Given the description of an element on the screen output the (x, y) to click on. 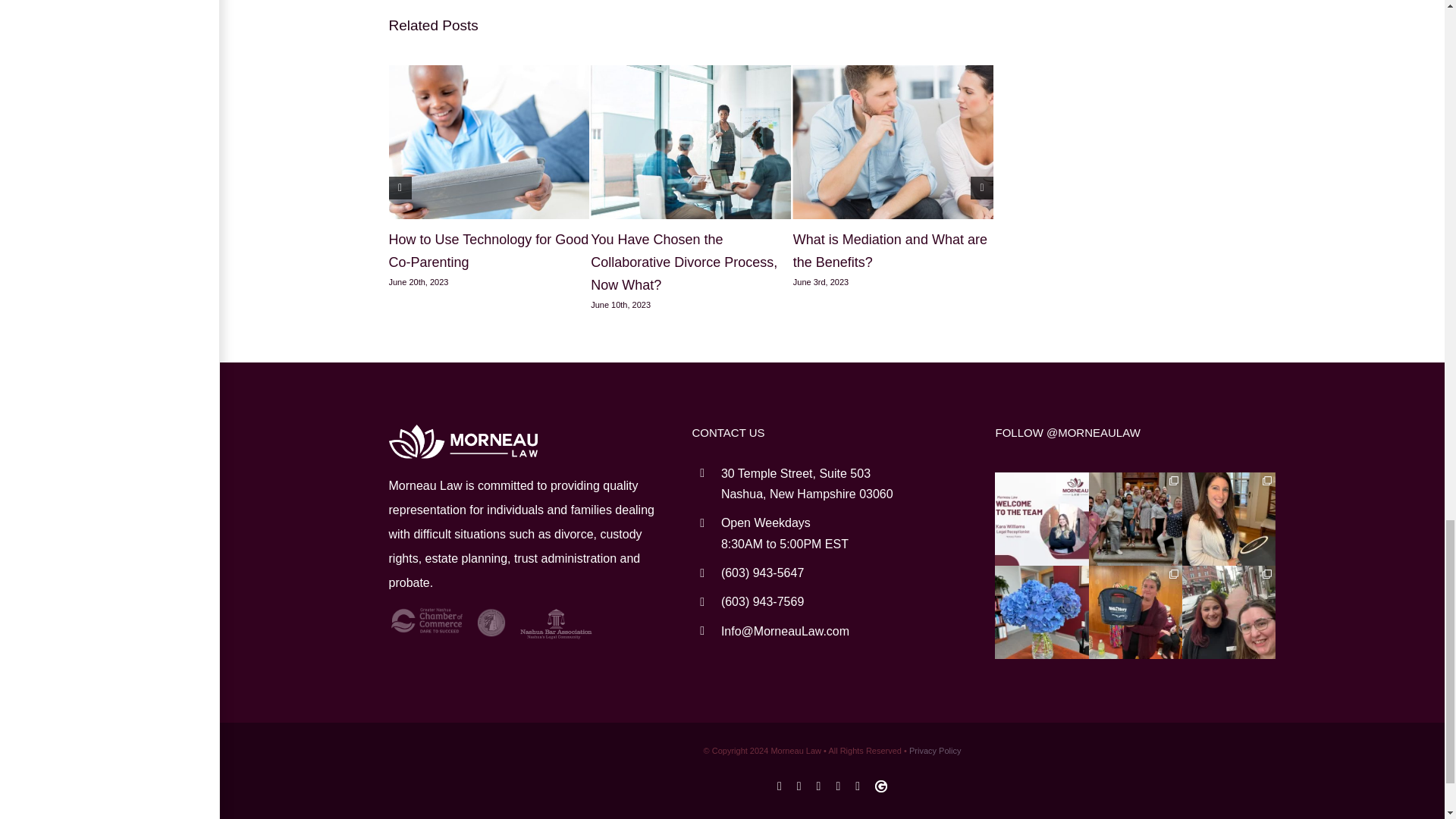
You Have Chosen the Collaborative Divorce Process, Now What? (684, 261)
What is Mediation and What are the Benefits? (890, 250)
How to Use Technology for Good Co-Parenting (488, 250)
